Given the description of an element on the screen output the (x, y) to click on. 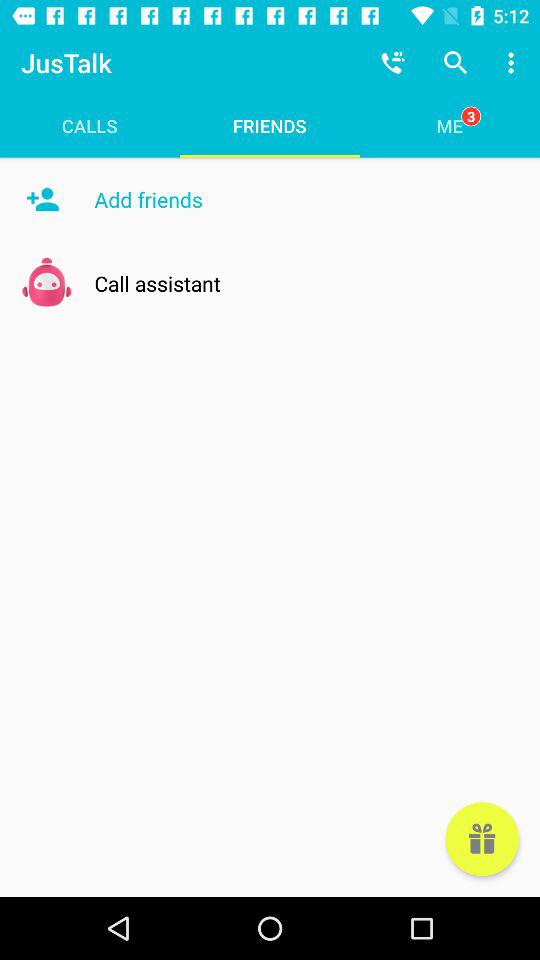
open item below the me item (482, 839)
